Given the description of an element on the screen output the (x, y) to click on. 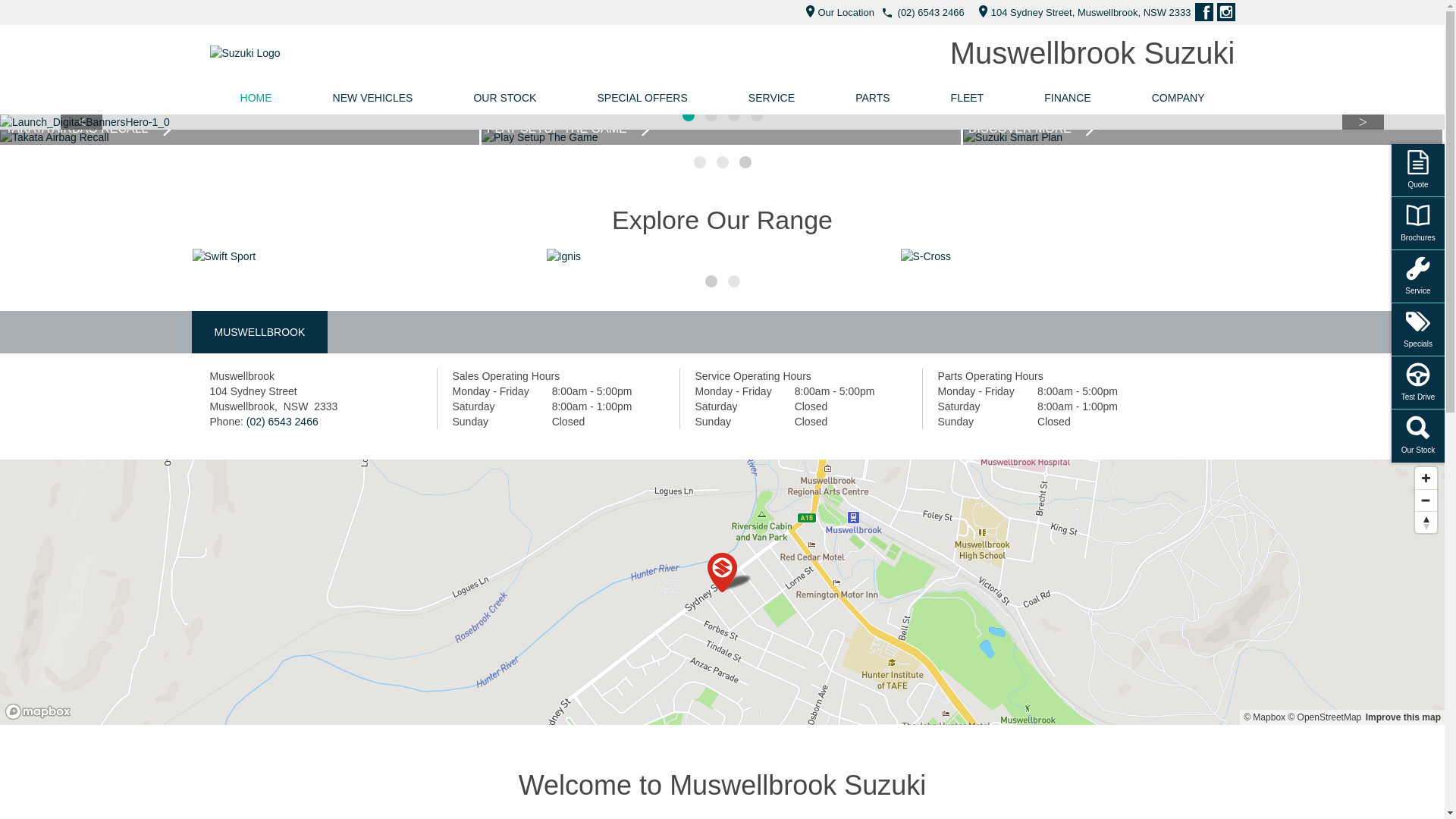
FLEET Element type: text (967, 97)
(02) 6543 2466 Element type: text (282, 421)
FINANCE Element type: text (1067, 97)
HOME Element type: text (255, 97)
104 Sydney Street, Muswellbrook, NSW 2333 Element type: text (1080, 12)
CAPPED PRICE SERVICING Element type: text (239, 136)
COMPANY Element type: text (1178, 97)
Reset bearing to north Element type: hover (1426, 522)
Zoom out Element type: hover (1426, 500)
Instagram Element type: text (1225, 12)
Improve this map Element type: text (1402, 717)
EXPLORE Element type: text (722, 255)
Zoom in Element type: hover (1426, 478)
TAKATA AIRBAG RECALL Element type: text (720, 136)
EXPLORE Element type: text (368, 255)
OUR STOCK Element type: text (504, 97)
SPECIAL OFFERS Element type: text (641, 97)
PARTS Element type: text (872, 97)
(02) 6543 2466 Element type: text (930, 12)
EXPLORE Element type: text (1076, 255)
NEW VEHICLES Element type: text (372, 97)
Our Location Element type: text (835, 12)
MUSWELLBROOK Element type: text (259, 331)
PLAY SETUP THE GAME Element type: text (1202, 136)
Facebook Element type: text (1204, 12)
Muswellbrook Suzuki Element type: text (1092, 52)
SERVICE Element type: text (771, 97)
